Given the description of an element on the screen output the (x, y) to click on. 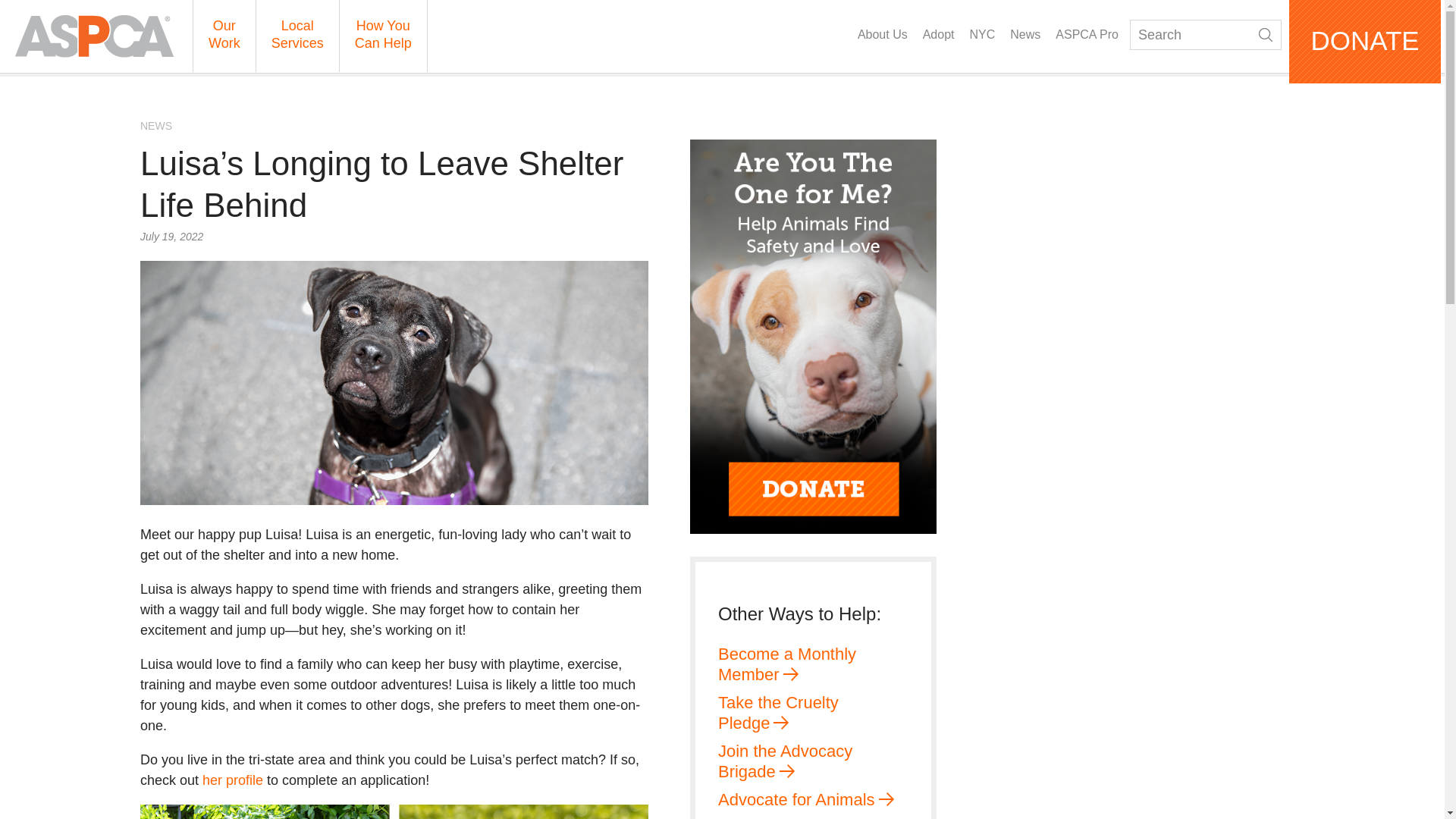
Search (1265, 34)
Home (93, 36)
Search (1205, 34)
